Given the description of an element on the screen output the (x, y) to click on. 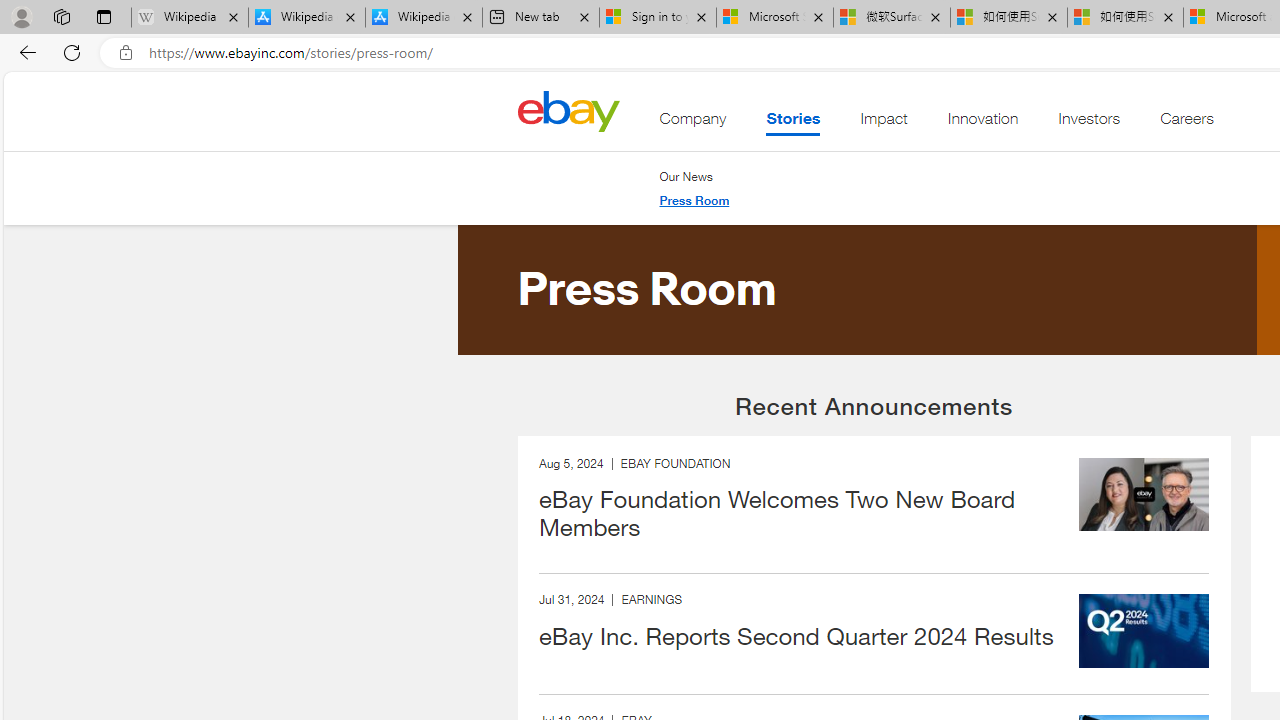
Class: desktop (568, 110)
